Given the description of an element on the screen output the (x, y) to click on. 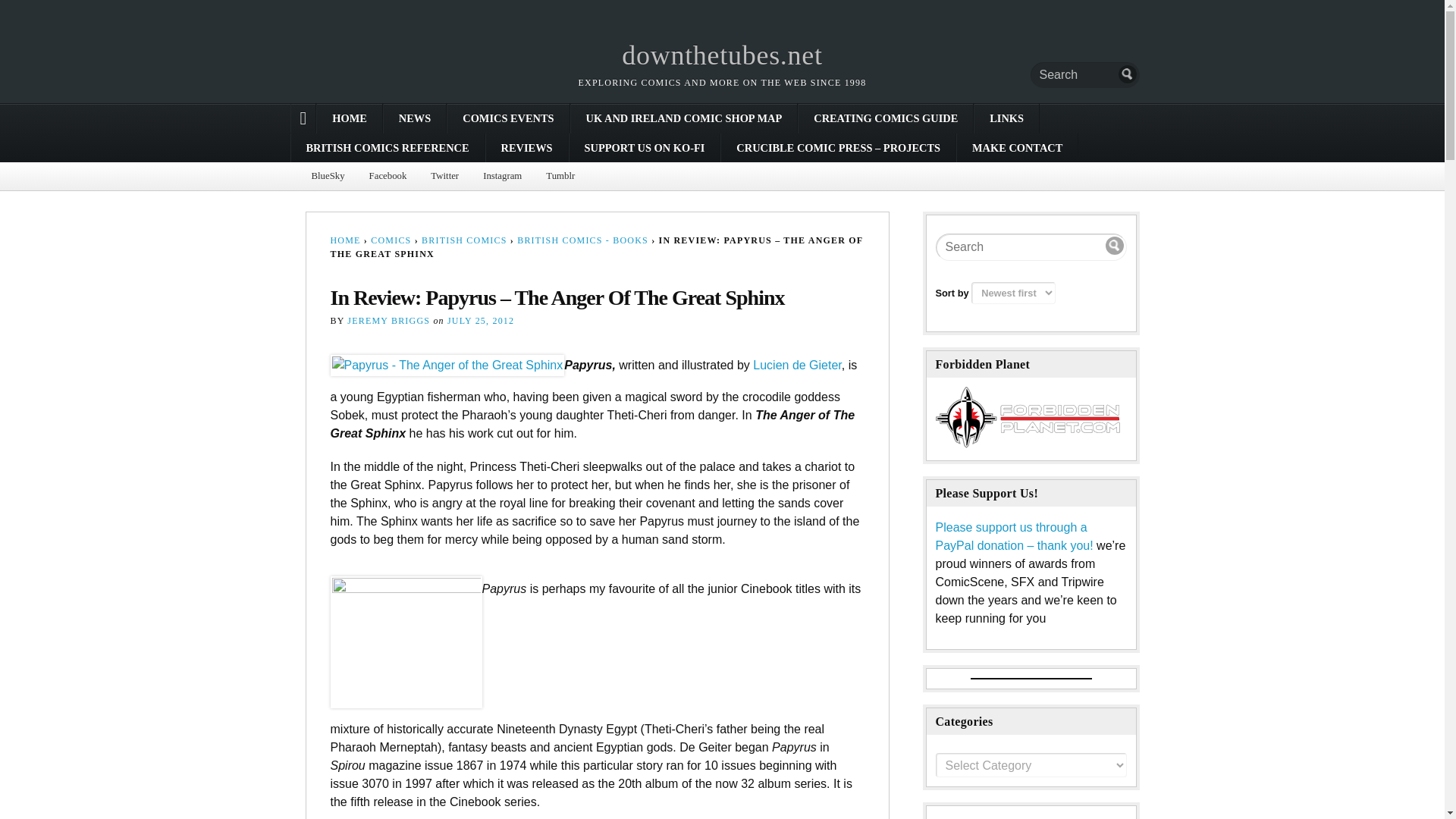
Home (721, 55)
BRITISH COMICS REFERENCE (387, 147)
UK AND IRELAND COMIC SHOP MAP (683, 118)
CREATING COMICS GUIDE (884, 118)
View all posts by Jeremy Briggs (388, 320)
downthetubes.net (721, 55)
7:00 am (479, 320)
HOME (349, 118)
LINKS (1006, 118)
COMICS EVENTS (507, 118)
